Given the description of an element on the screen output the (x, y) to click on. 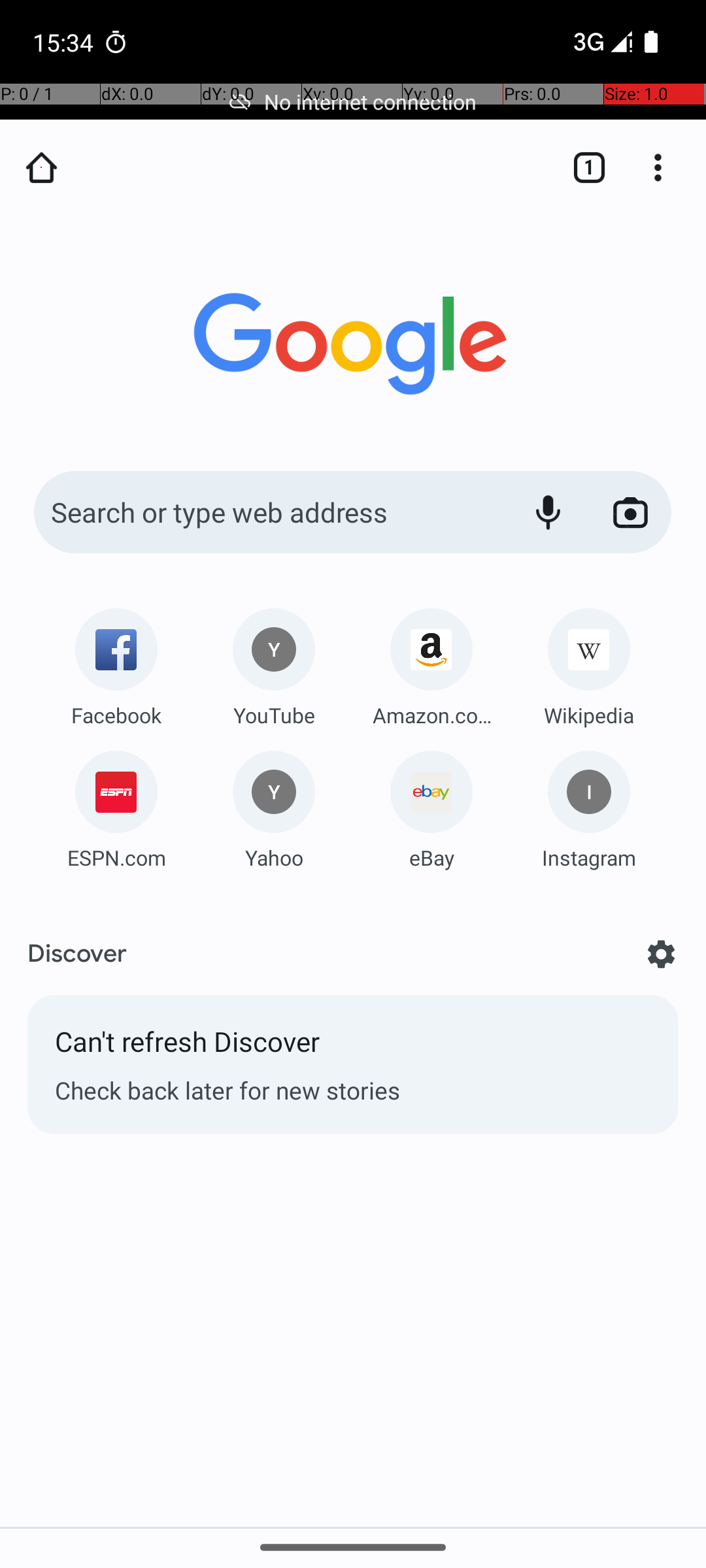
Can't refresh Discover Element type: android.widget.TextView (352, 1047)
Check back later for new stories Element type: android.widget.TextView (352, 1089)
